Given the description of an element on the screen output the (x, y) to click on. 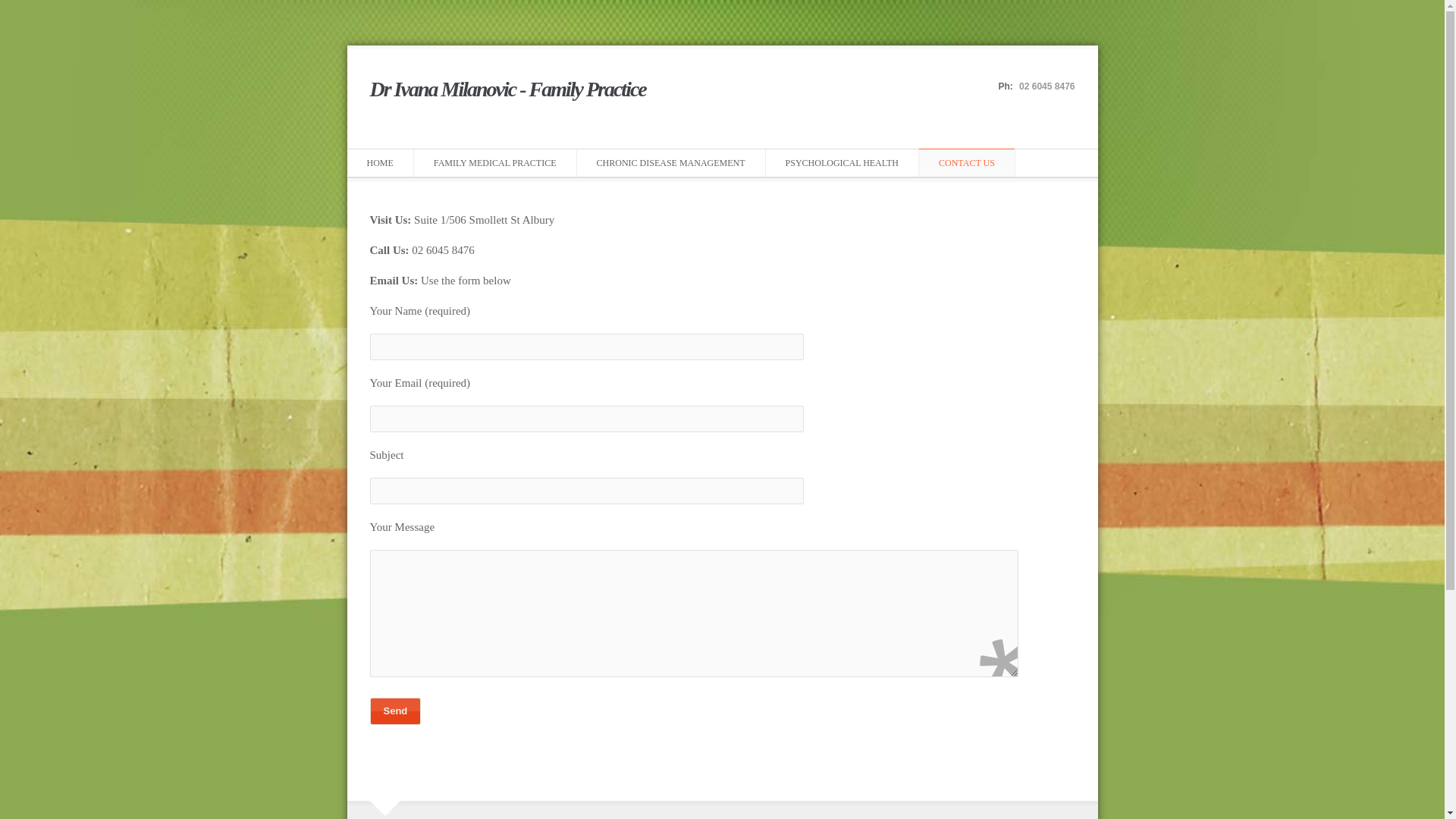
CHRONIC DISEASE MANAGEMENT Element type: text (671, 162)
PSYCHOLOGICAL HEALTH Element type: text (841, 162)
CONTACT US Element type: text (966, 162)
FAMILY MEDICAL PRACTICE Element type: text (495, 162)
Send Element type: text (395, 710)
Dr Ivana Milanovic - Family Practice Element type: text (508, 96)
HOME Element type: text (380, 162)
